Given the description of an element on the screen output the (x, y) to click on. 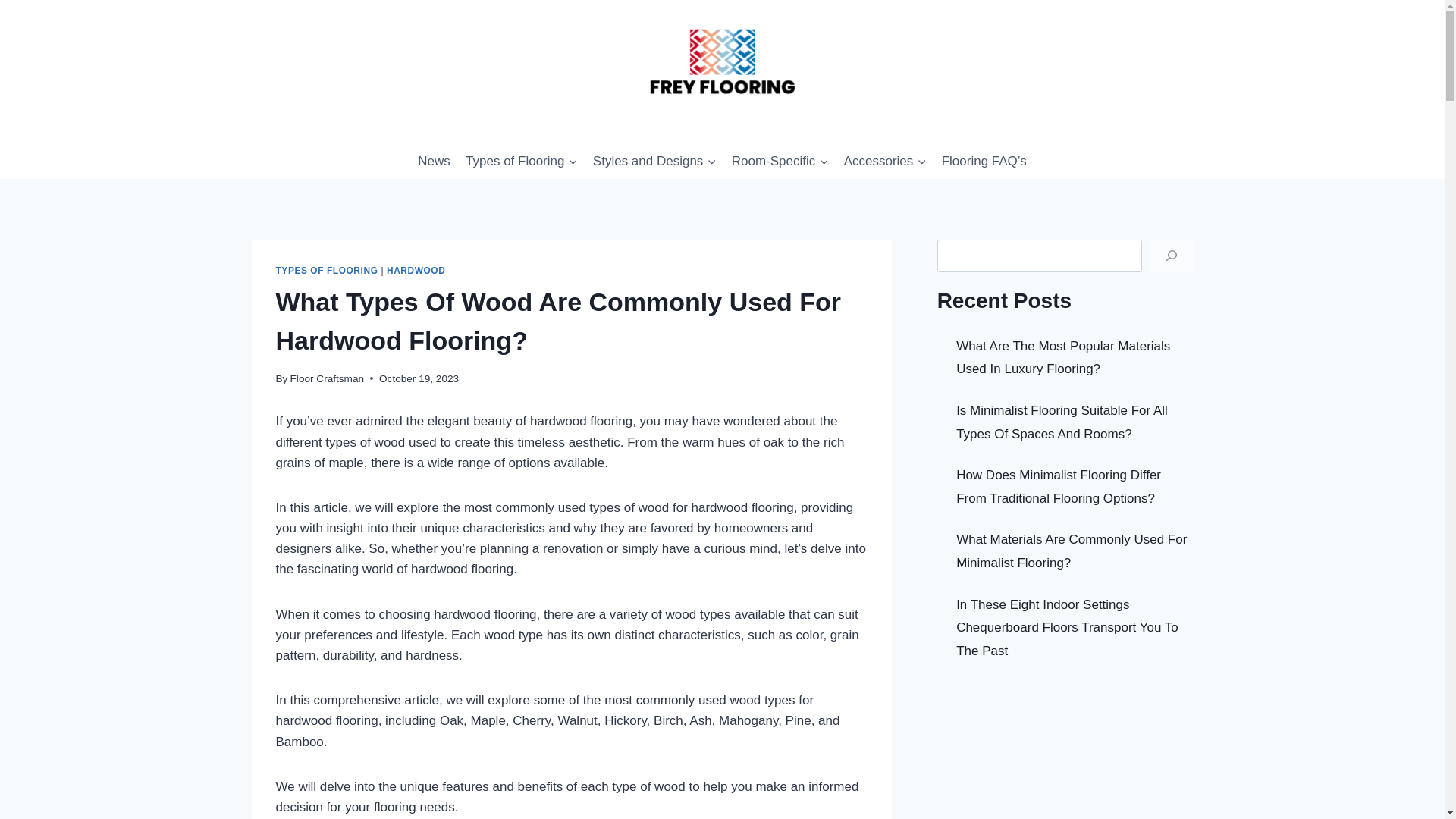
Accessories (884, 160)
Styles and Designs (654, 160)
Room-Specific (779, 160)
News (434, 160)
Types of Flooring (521, 160)
